Given the description of an element on the screen output the (x, y) to click on. 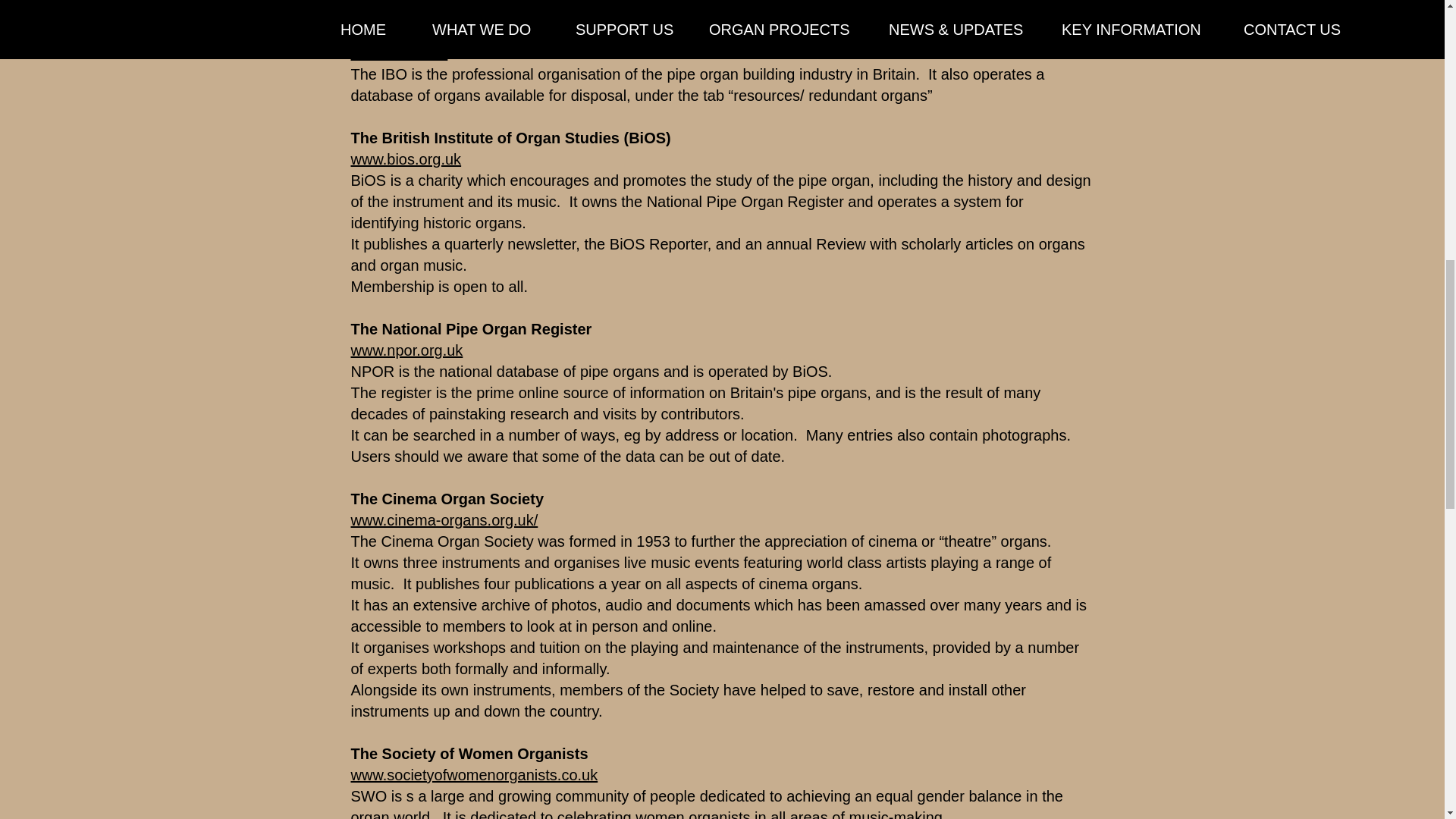
www.npor.org.uk (406, 350)
www.bios.org.uk (405, 158)
www.ibo.co.uk (398, 53)
www.societyofwomenorganists.co.uk (473, 774)
